Given the description of an element on the screen output the (x, y) to click on. 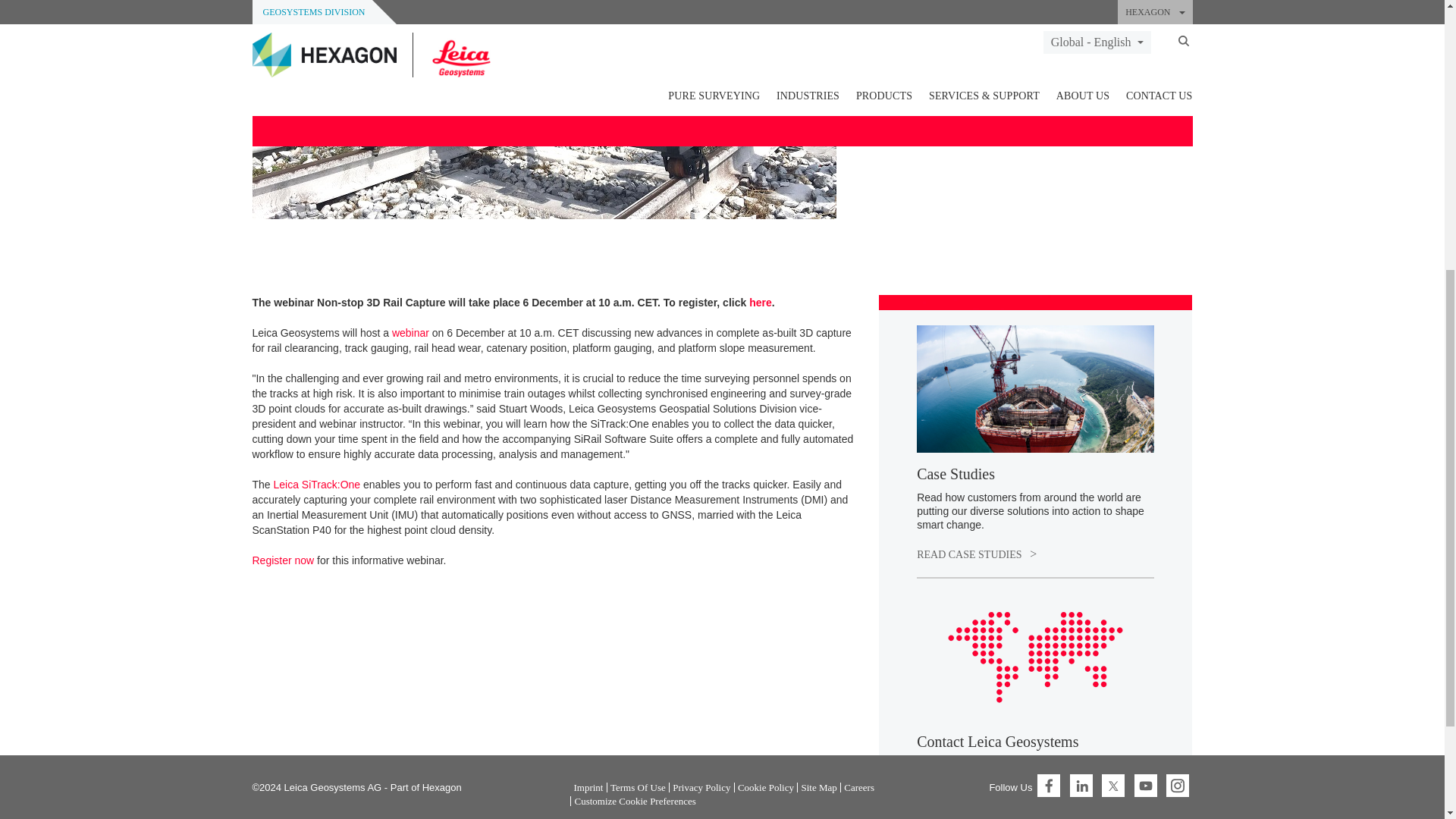
LinkedIn (1081, 320)
YouTube (1145, 320)
Hexagon (441, 322)
Customize Cookie Preferences (634, 336)
Twitter (1113, 320)
Facebook (1047, 320)
